Given the description of an element on the screen output the (x, y) to click on. 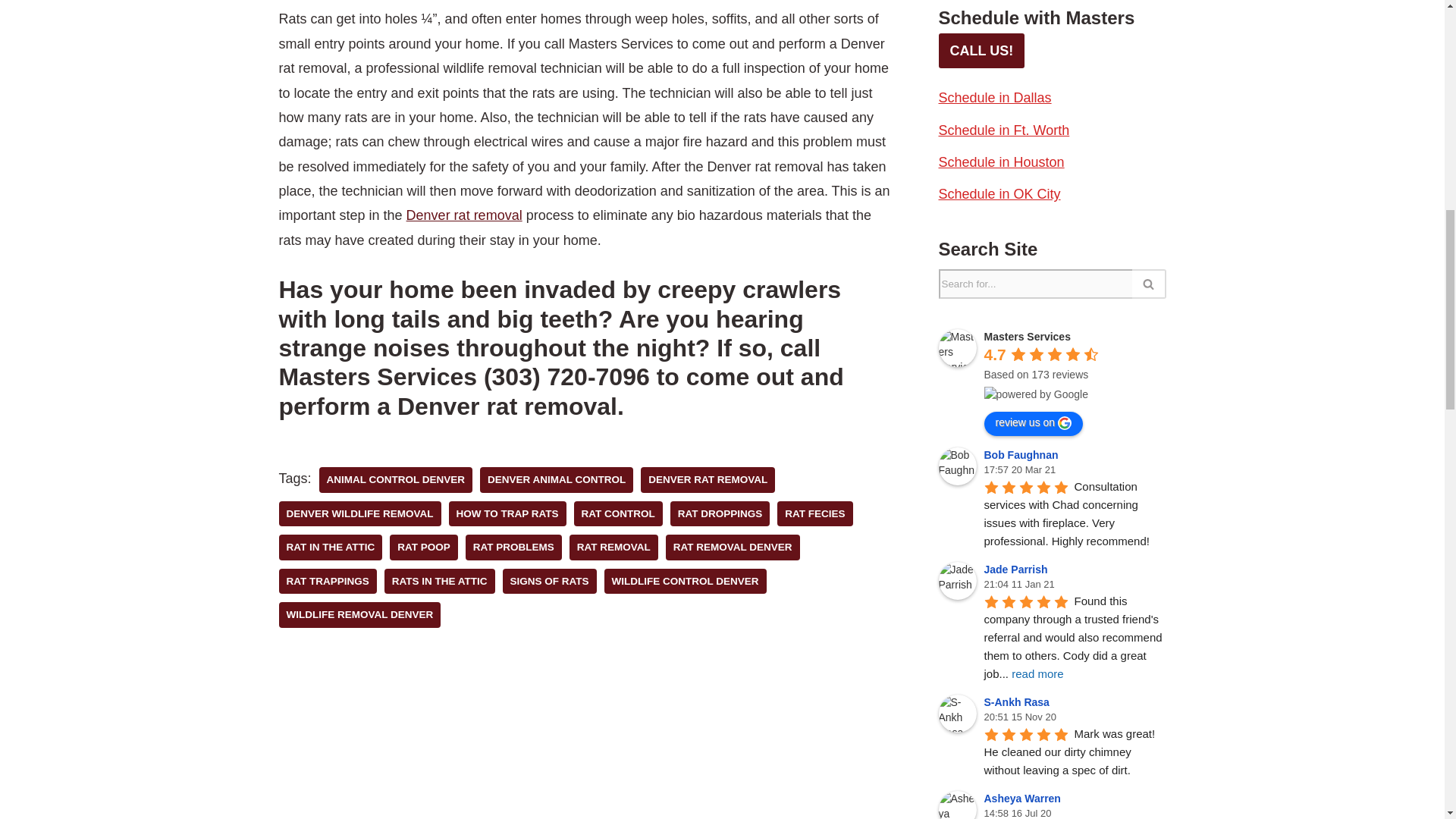
rat removal (613, 547)
rat problems (513, 547)
rat poop (424, 547)
animal control denver (395, 479)
rat fecies (814, 514)
denver wildlife removal (360, 514)
Denver rat removal (464, 215)
rat in the attic (330, 547)
rat control (617, 514)
rat droppings (719, 514)
